Given the description of an element on the screen output the (x, y) to click on. 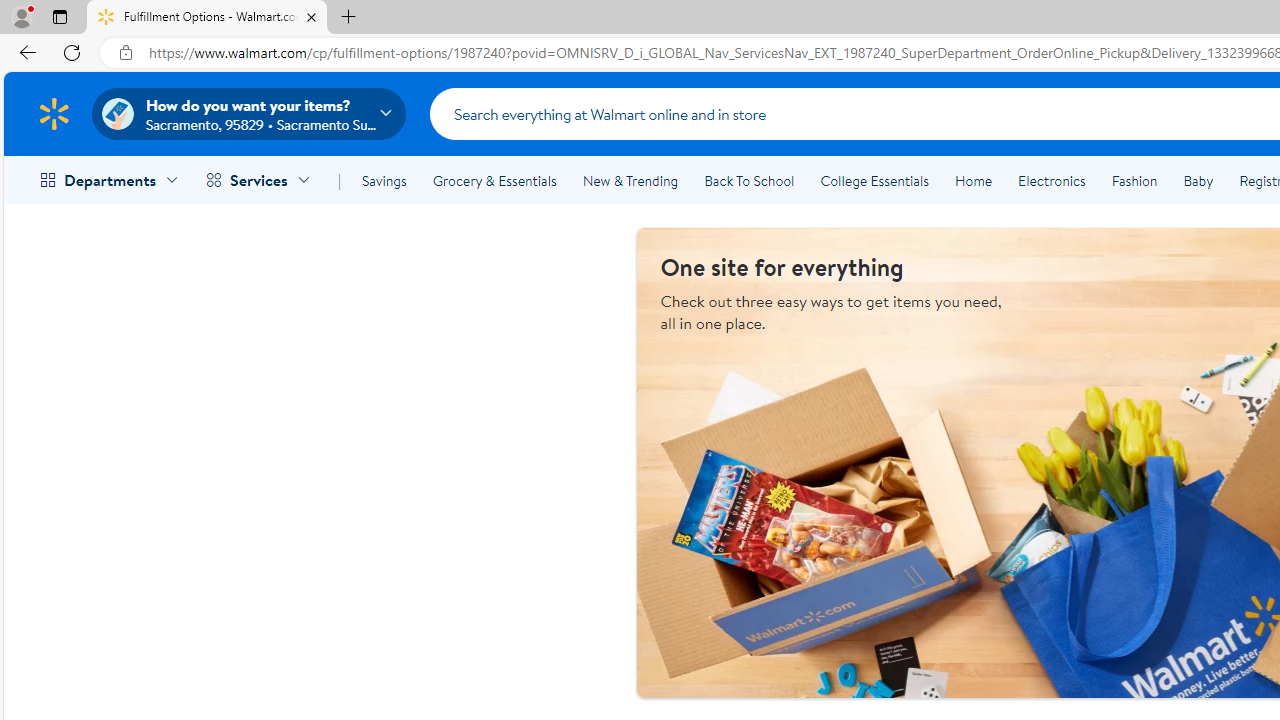
Back To School (749, 180)
Back To School (749, 180)
New & Trending (630, 180)
Savings (384, 180)
Grocery & Essentials (493, 180)
Fashion (1134, 180)
Grocery & Essentials (493, 180)
Electronics (1051, 180)
Savings (384, 180)
College Essentials (874, 180)
